Given the description of an element on the screen output the (x, y) to click on. 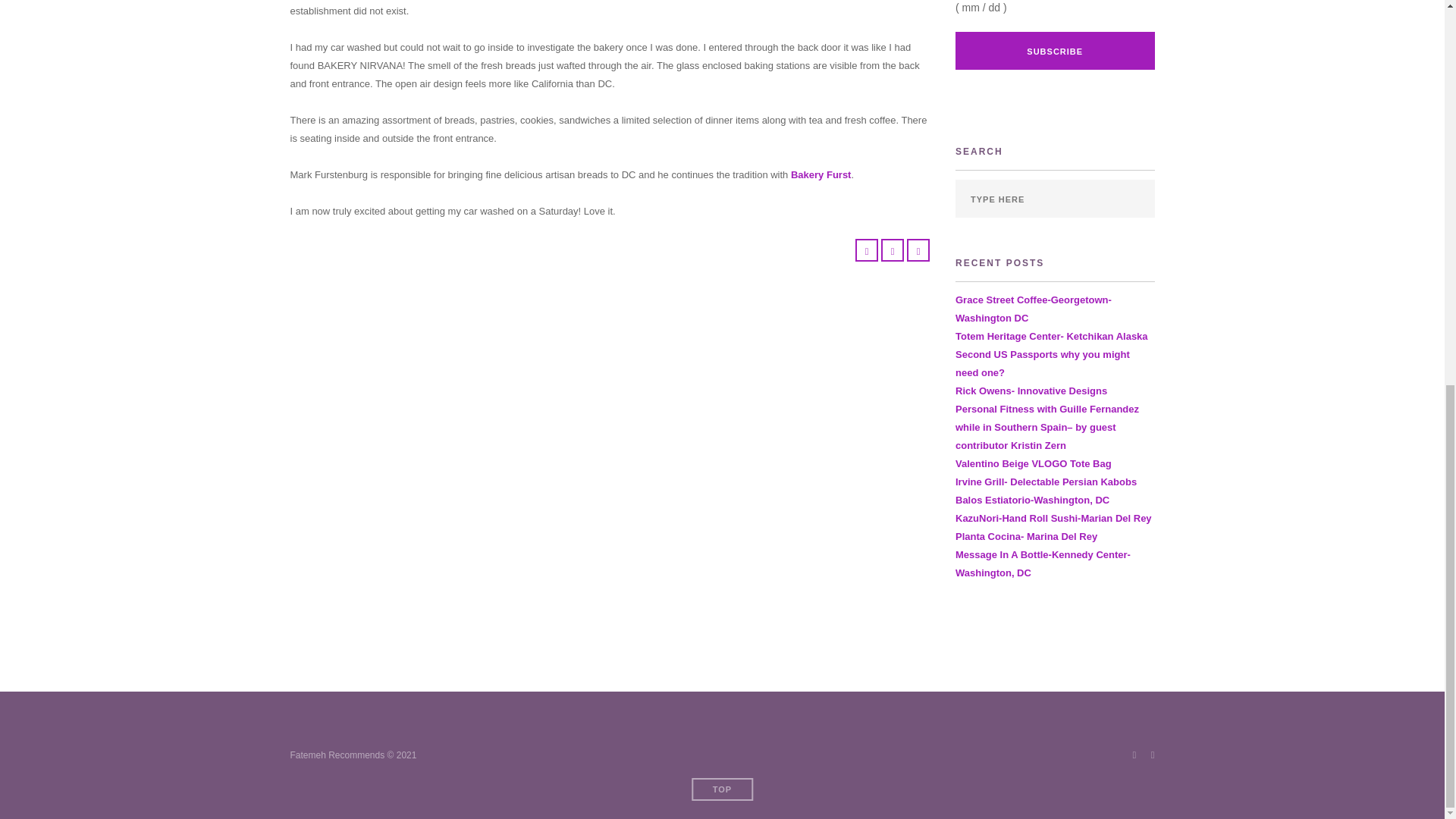
TOP (721, 789)
Grace Street Coffee-Georgetown-Washington DC (1033, 308)
KazuNori-Hand Roll Sushi-Marian Del Rey (1053, 518)
Subscribe (1054, 50)
Irvine Grill- Delectable Persian Kabobs (1046, 481)
Valentino Beige VLOGO Tote Bag (1033, 463)
Rick Owens- Innovative Designs (1030, 390)
Message In A Bottle-Kennedy Center-Washington, DC (1043, 563)
Subscribe (1054, 50)
Balos Estiatorio-Washington, DC (1032, 500)
Second US Passports why you might need one? (1042, 363)
Bakery Furst (820, 174)
Totem Heritage Center- Ketchikan Alaska (1051, 336)
Planta Cocina- Marina Del Rey (1026, 536)
